Given the description of an element on the screen output the (x, y) to click on. 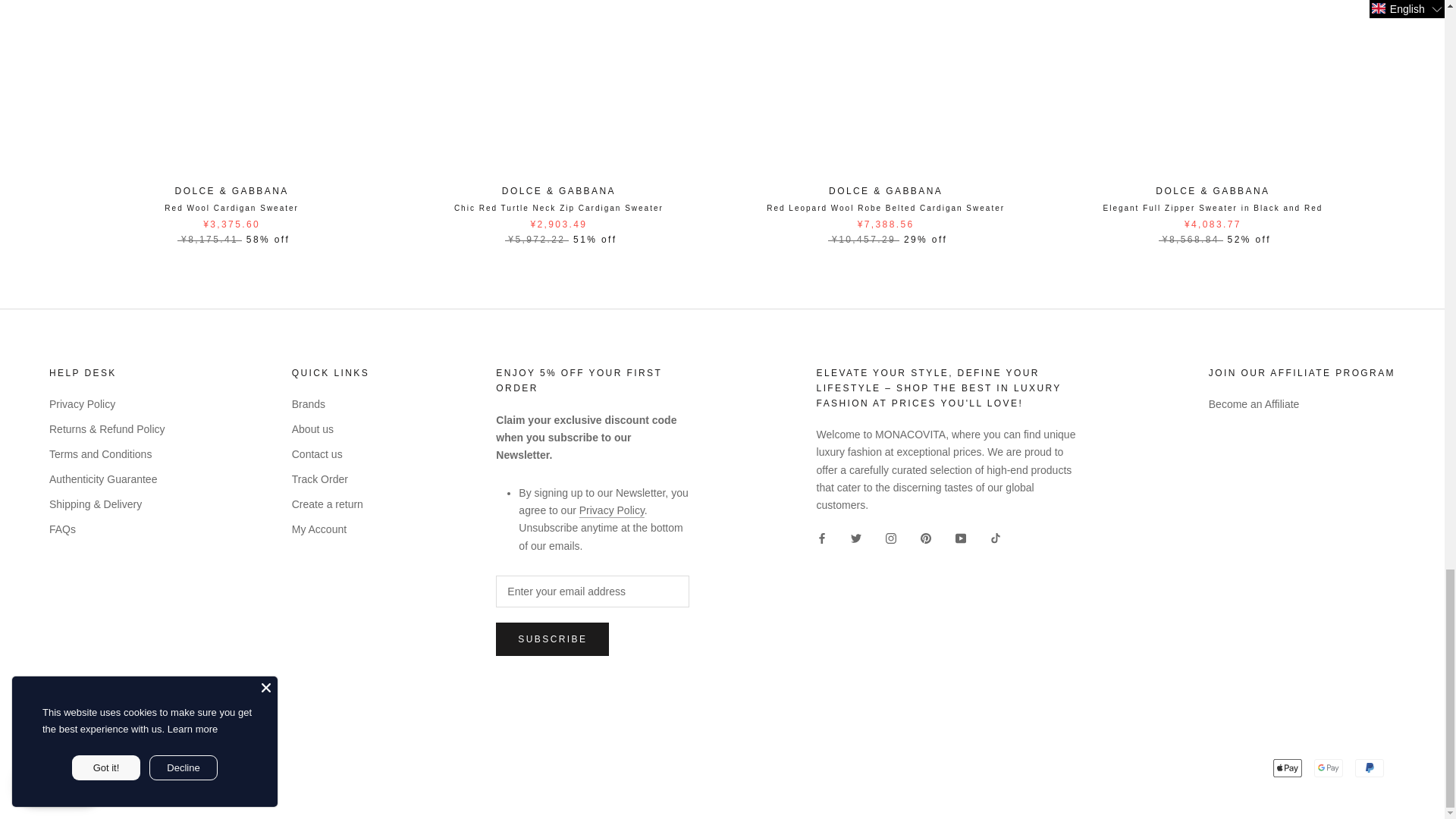
Privacy Policy (612, 510)
